Given the description of an element on the screen output the (x, y) to click on. 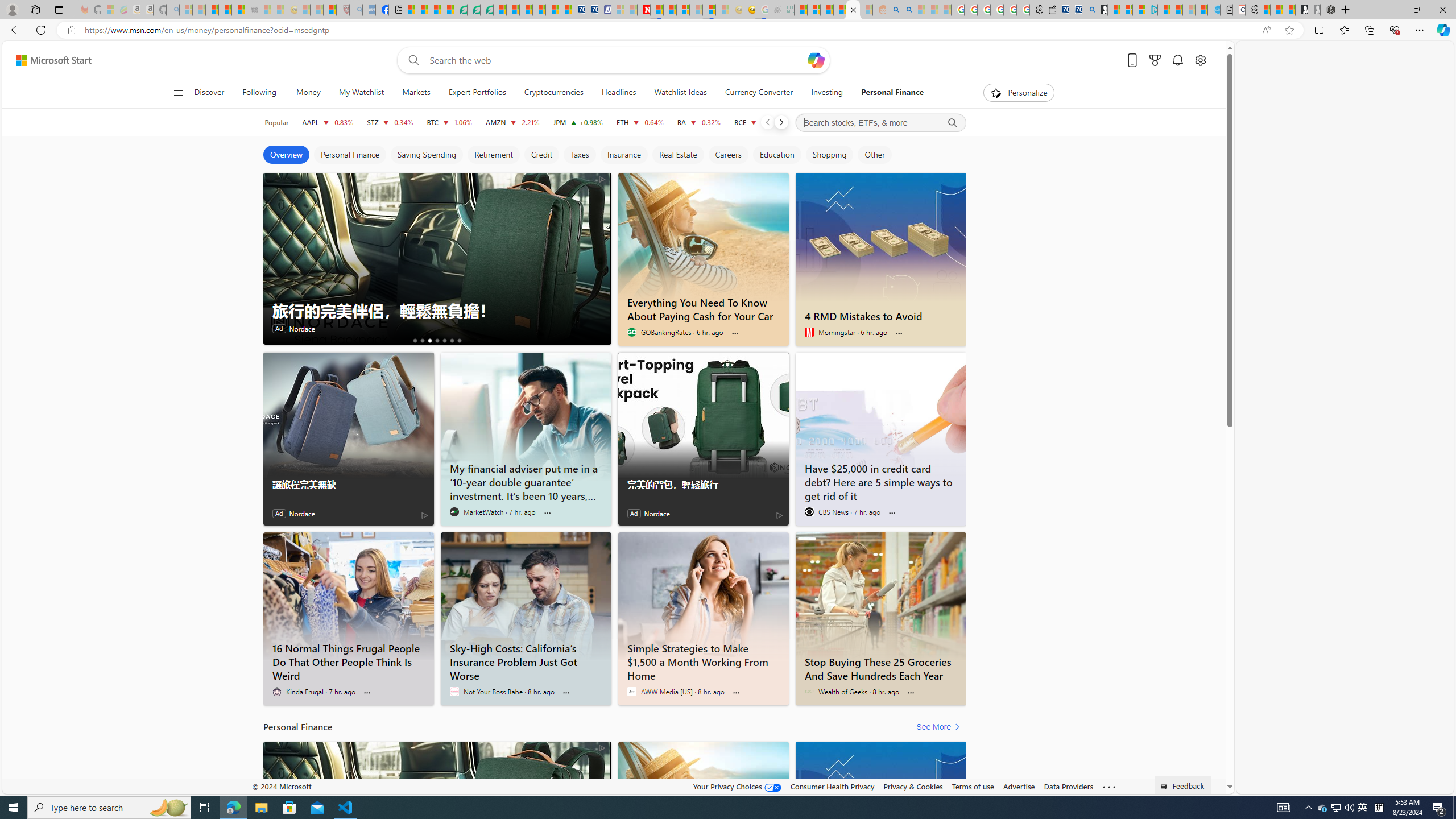
BCE BCE Inc decrease 34.55 -0.07 -0.20% (756, 122)
MarketWatch (453, 511)
Watchlist Ideas (680, 92)
Personal Finance (349, 154)
STZ CONSTELLATION BRANDS, INC. decrease 243.92 -0.82 -0.34% (389, 122)
